Given the description of an element on the screen output the (x, y) to click on. 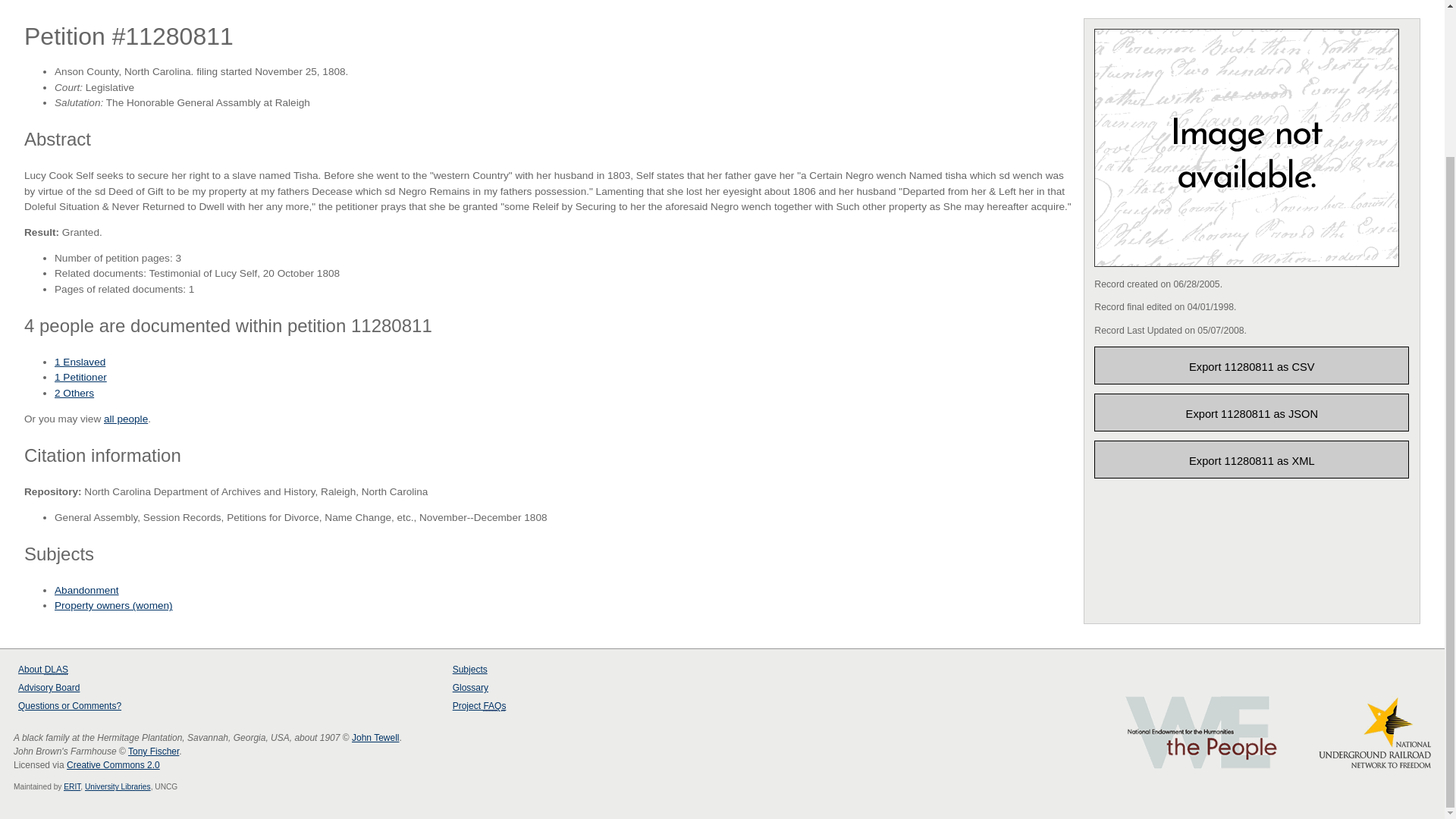
John Tewell (375, 737)
Digital Library on American Slavery (56, 669)
export record information as xml (1251, 459)
Electronic Resources and Information Technology (72, 786)
view 1 enslaved in this record (79, 361)
1 Enslaved (79, 361)
no full image (1246, 147)
Subjects (469, 669)
1 Petitioner (80, 377)
Questions or Comments? (68, 706)
Project FAQs (479, 706)
Export 11280811 as CSV (1251, 365)
Frequently Asked Questions (494, 706)
export record information as csv (1251, 365)
Glossary (469, 687)
